Given the description of an element on the screen output the (x, y) to click on. 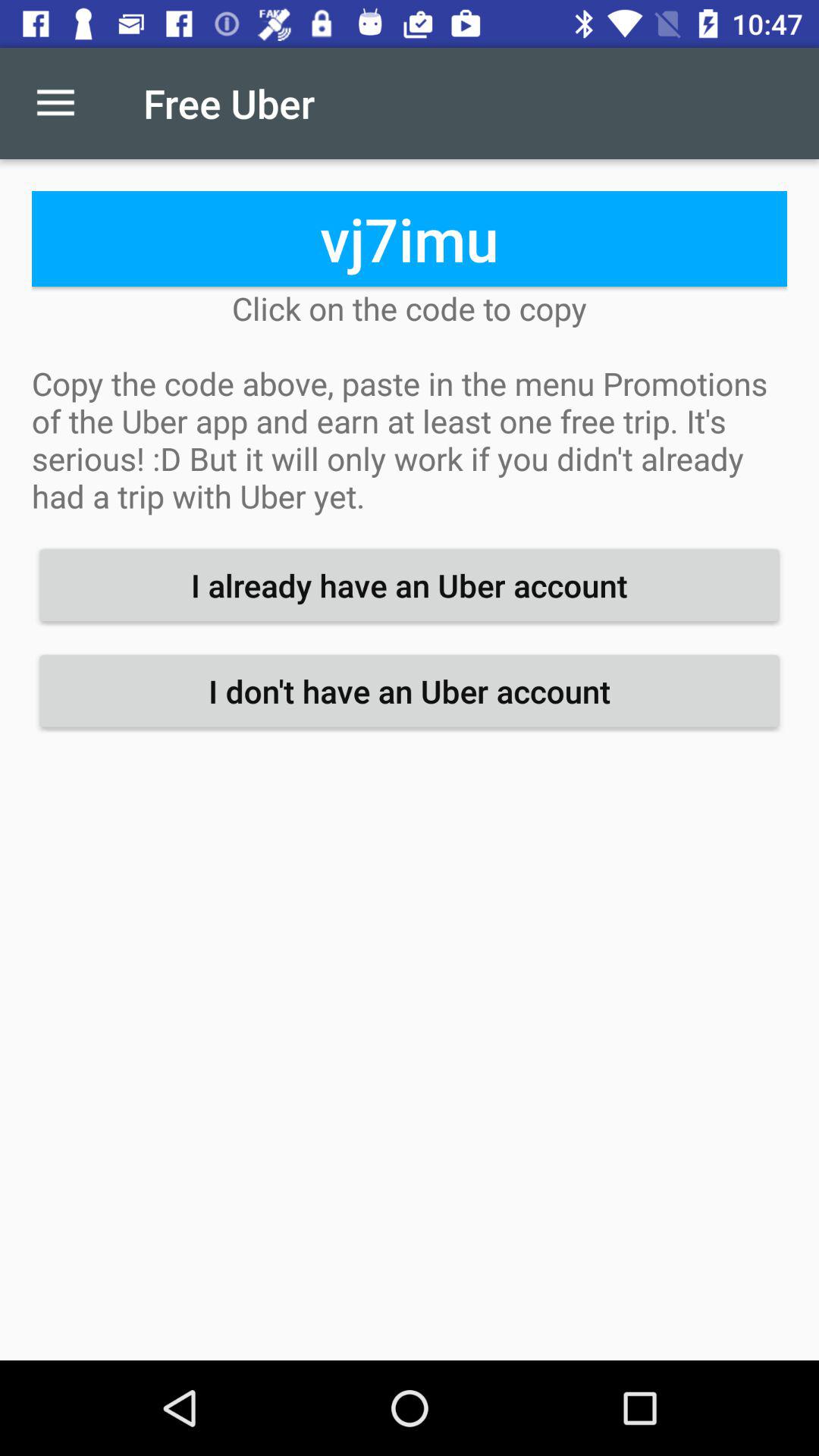
turn off the vj7imu item (409, 238)
